Given the description of an element on the screen output the (x, y) to click on. 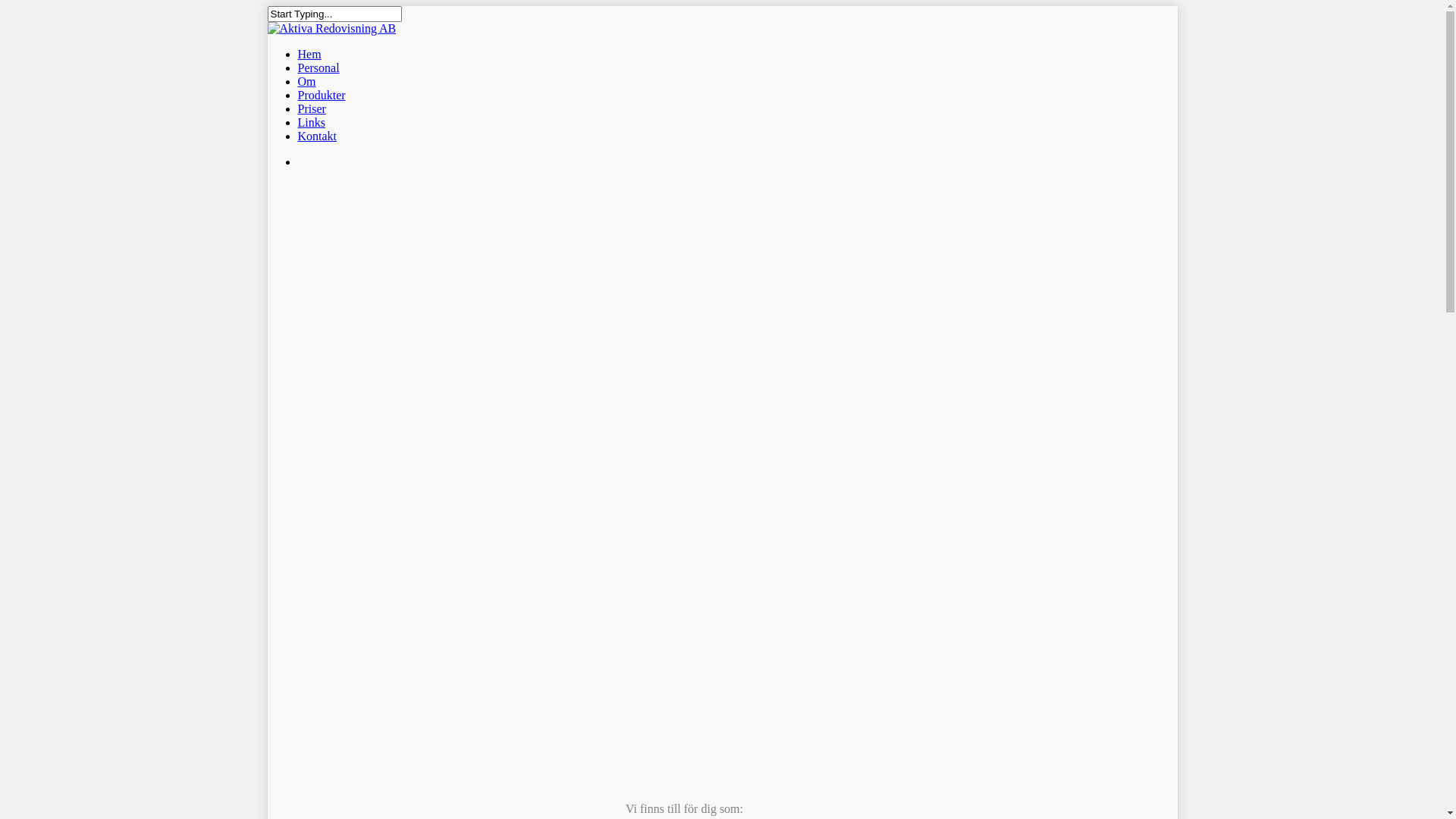
Om Element type: text (306, 81)
Kontakt Element type: text (316, 135)
Produkter Element type: text (321, 94)
Hem Element type: text (308, 53)
Priser Element type: text (311, 108)
Personal Element type: text (317, 67)
Links Element type: text (310, 122)
